Given the description of an element on the screen output the (x, y) to click on. 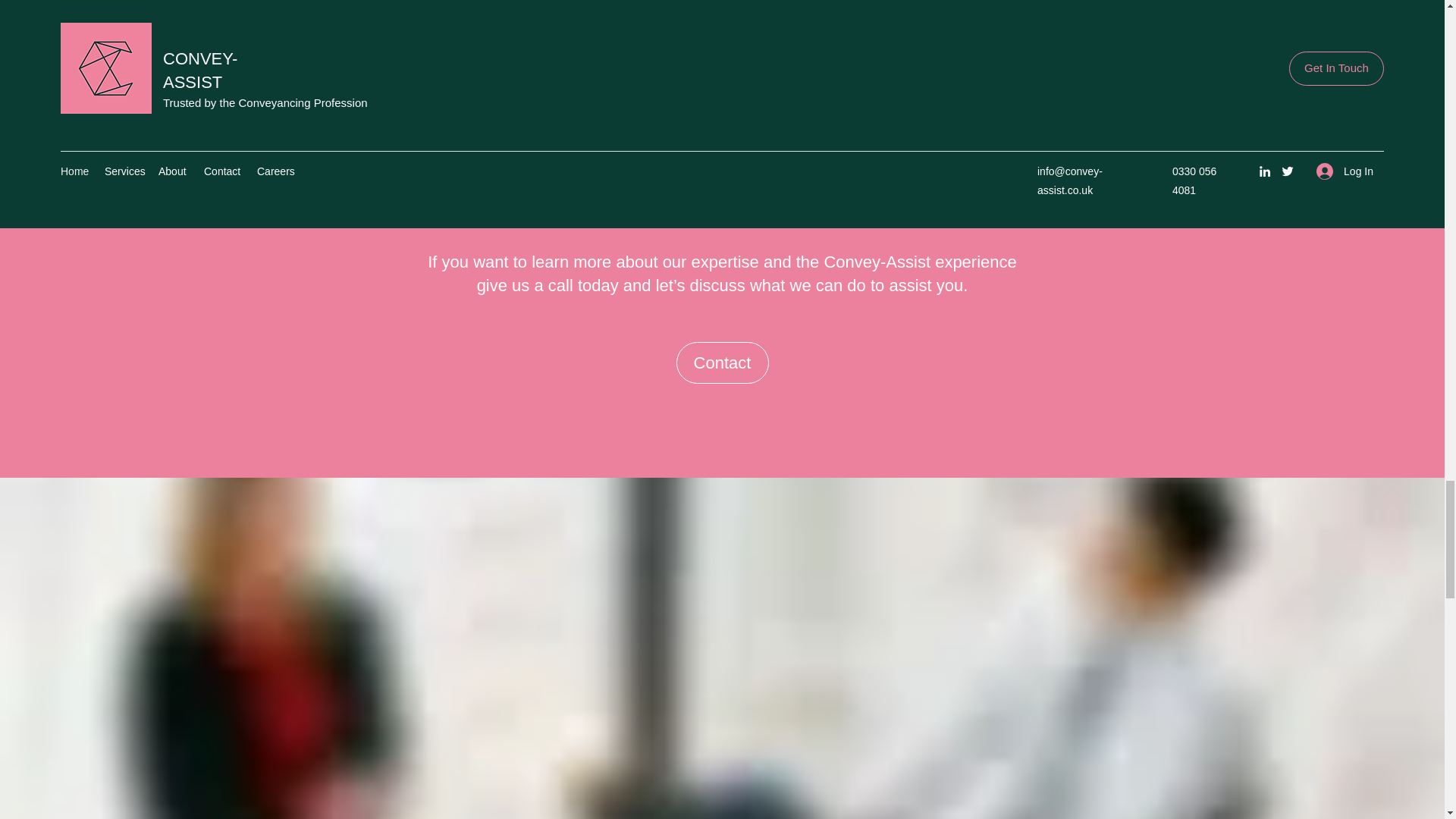
Contact (722, 363)
